Given the description of an element on the screen output the (x, y) to click on. 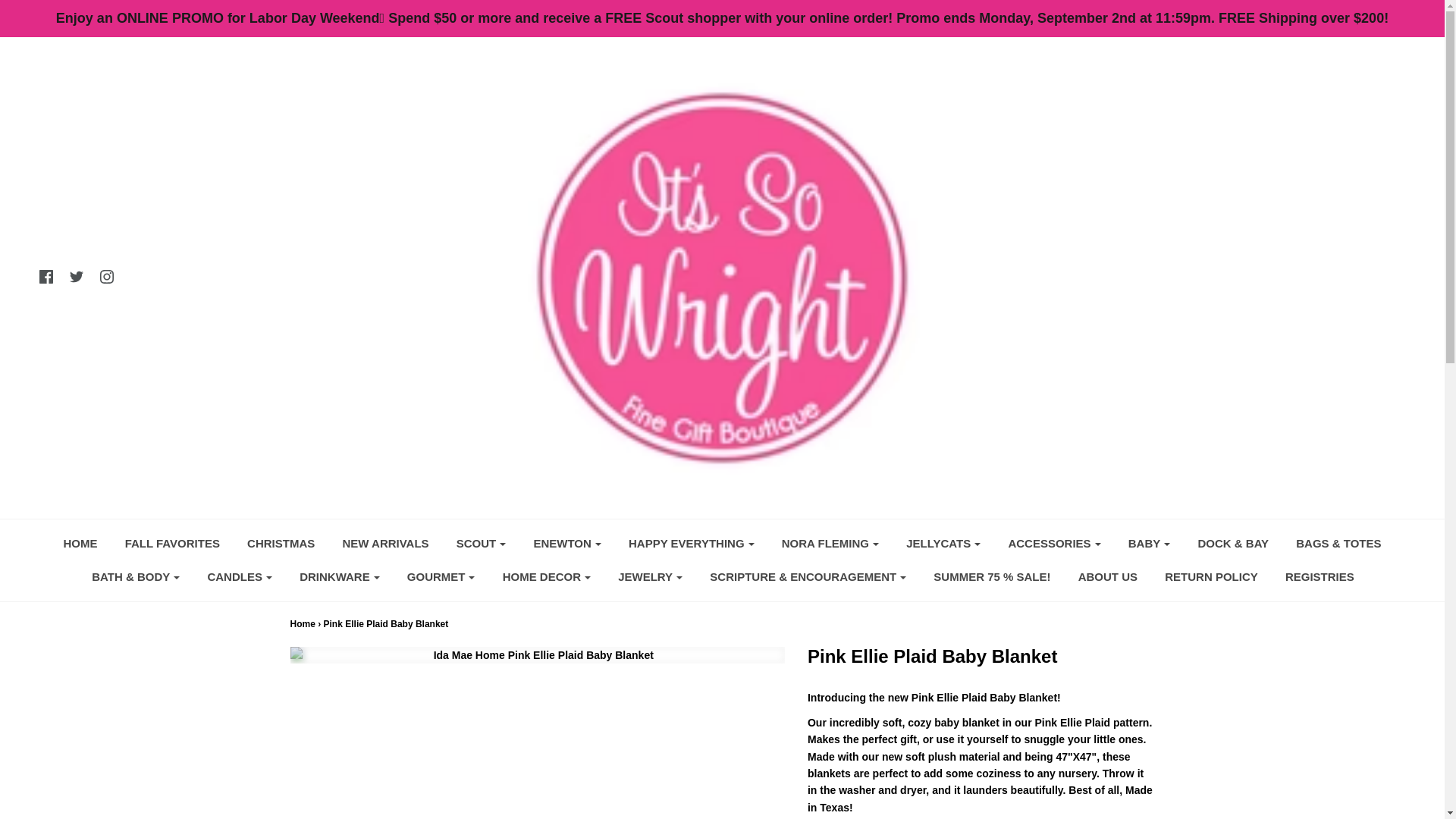
Instagram icon (107, 276)
Facebook icon (46, 276)
Back to the frontpage (301, 624)
Twitter icon (76, 276)
